Given the description of an element on the screen output the (x, y) to click on. 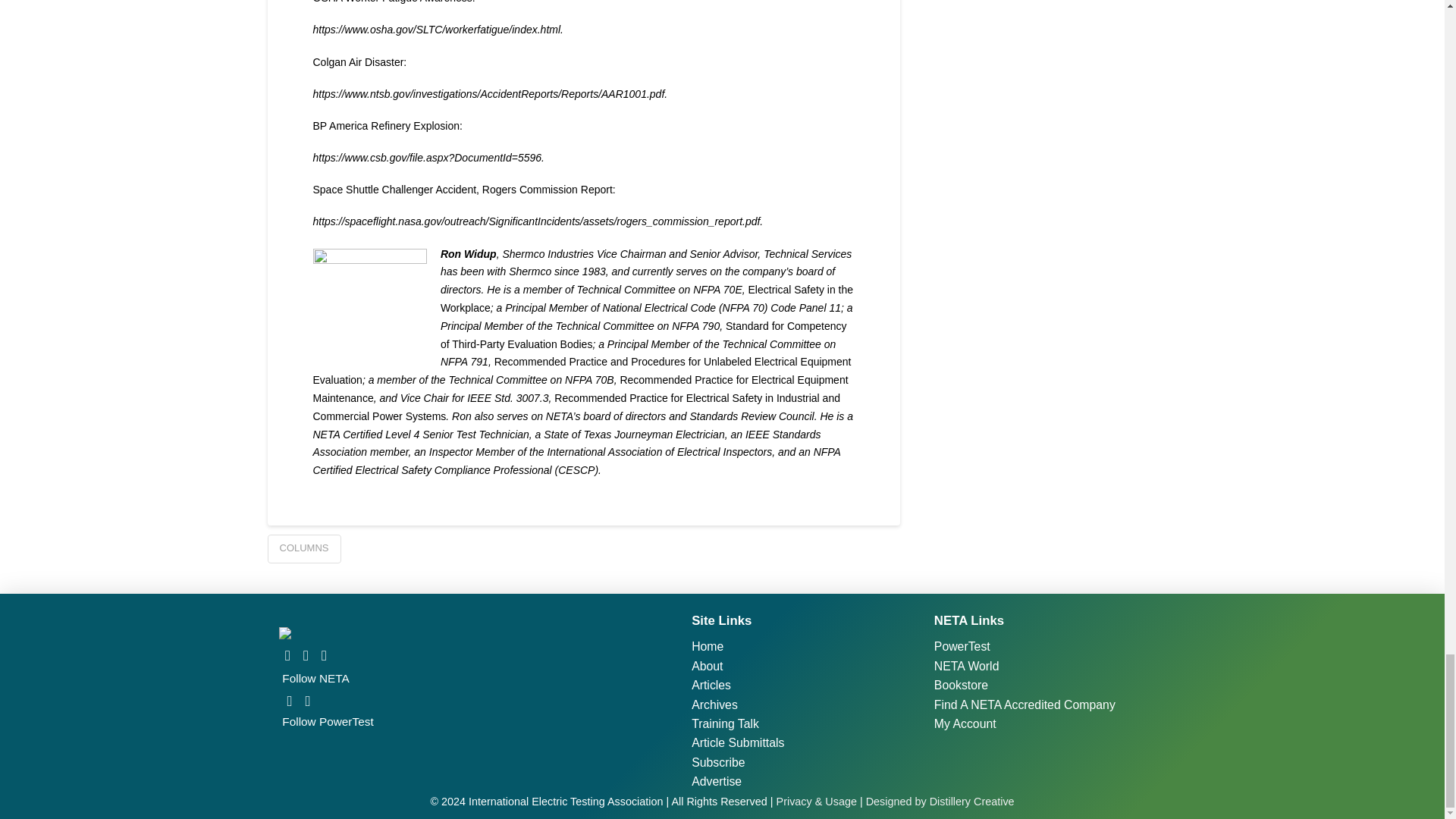
COLUMNS (303, 548)
